Given the description of an element on the screen output the (x, y) to click on. 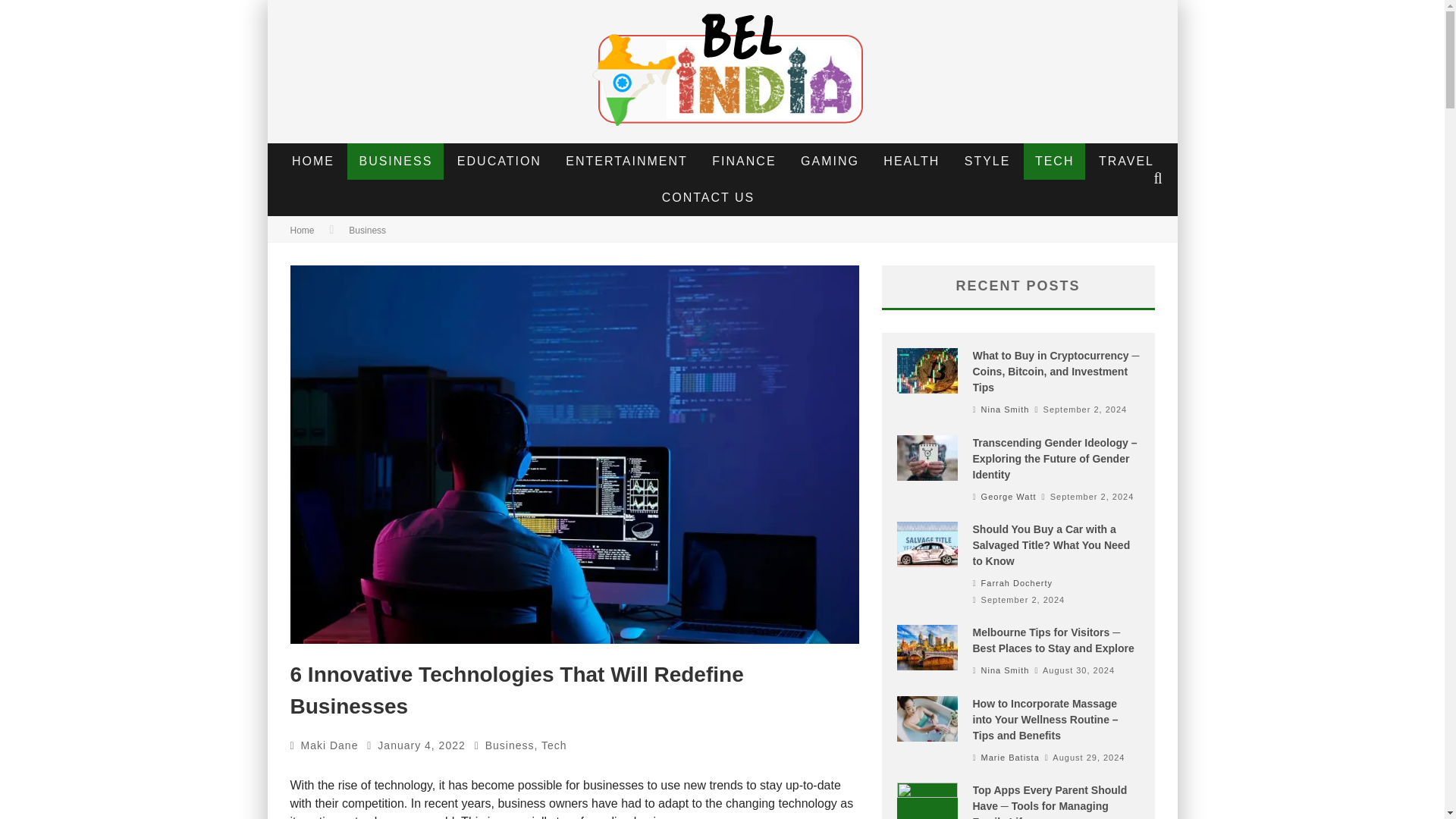
GAMING (829, 161)
STYLE (987, 161)
HEALTH (911, 161)
BUSINESS (395, 161)
View all posts in Business (367, 230)
View all posts in Tech (554, 745)
Business (509, 745)
Home (301, 230)
ENTERTAINMENT (626, 161)
EDUCATION (499, 161)
